Given the description of an element on the screen output the (x, y) to click on. 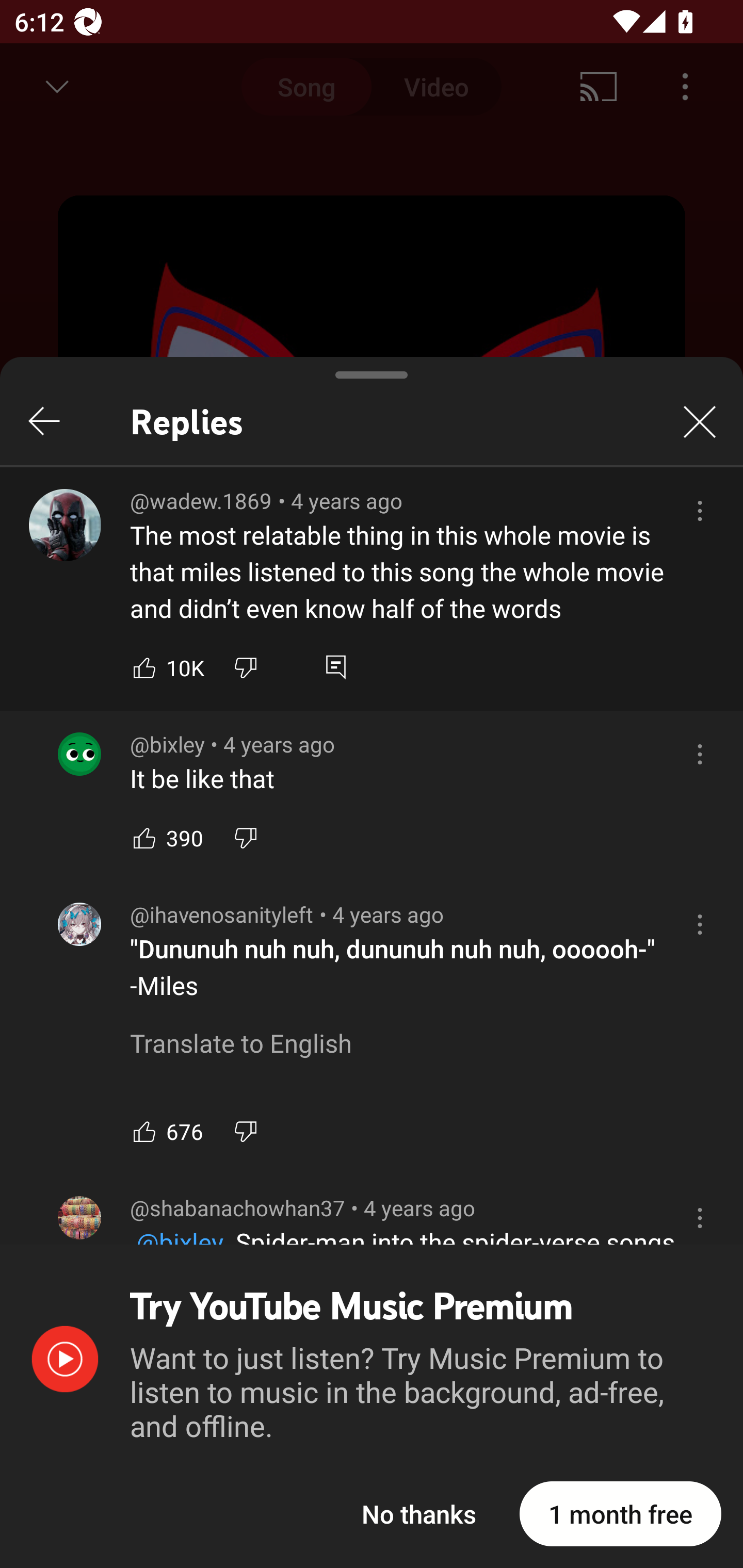
Back (43, 421)
Close (699, 421)
Action menu (699, 510)
Like this comment along with 10K other people (144, 667)
Dislike this comment (245, 667)
Reply (335, 667)
@bixley (79, 754)
Like this reply along with 390 other people (144, 837)
Dislike this reply (245, 837)
Translate to English (241, 1044)
Like this reply along with 676 other people (144, 1131)
Dislike this reply (245, 1131)
Action menu (699, 1217)
@shabanachowhan37 (79, 1217)
No thanks (418, 1513)
1 month free (620, 1513)
